Given the description of an element on the screen output the (x, y) to click on. 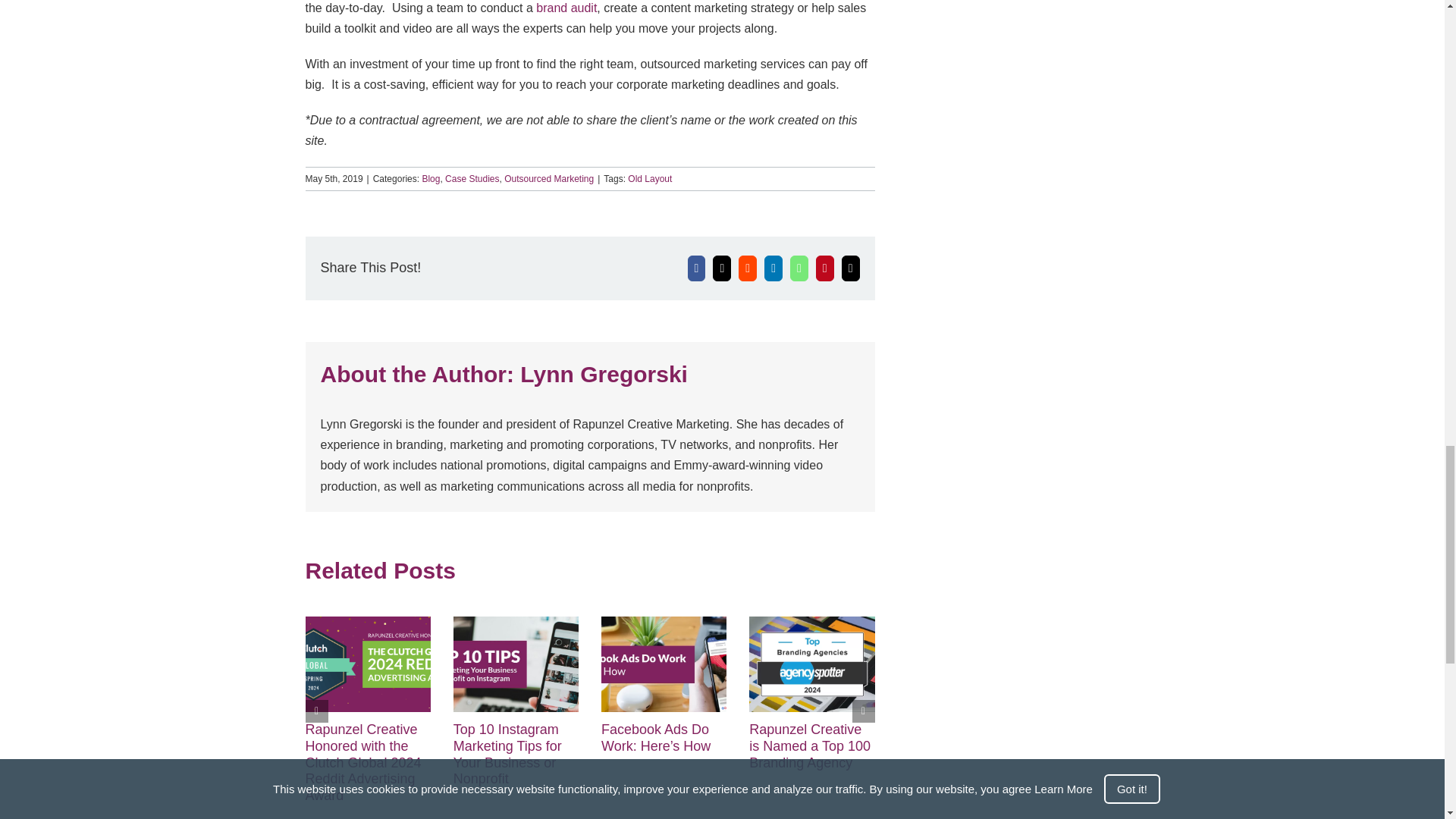
Posts by Lynn Gregorski (603, 373)
